Given the description of an element on the screen output the (x, y) to click on. 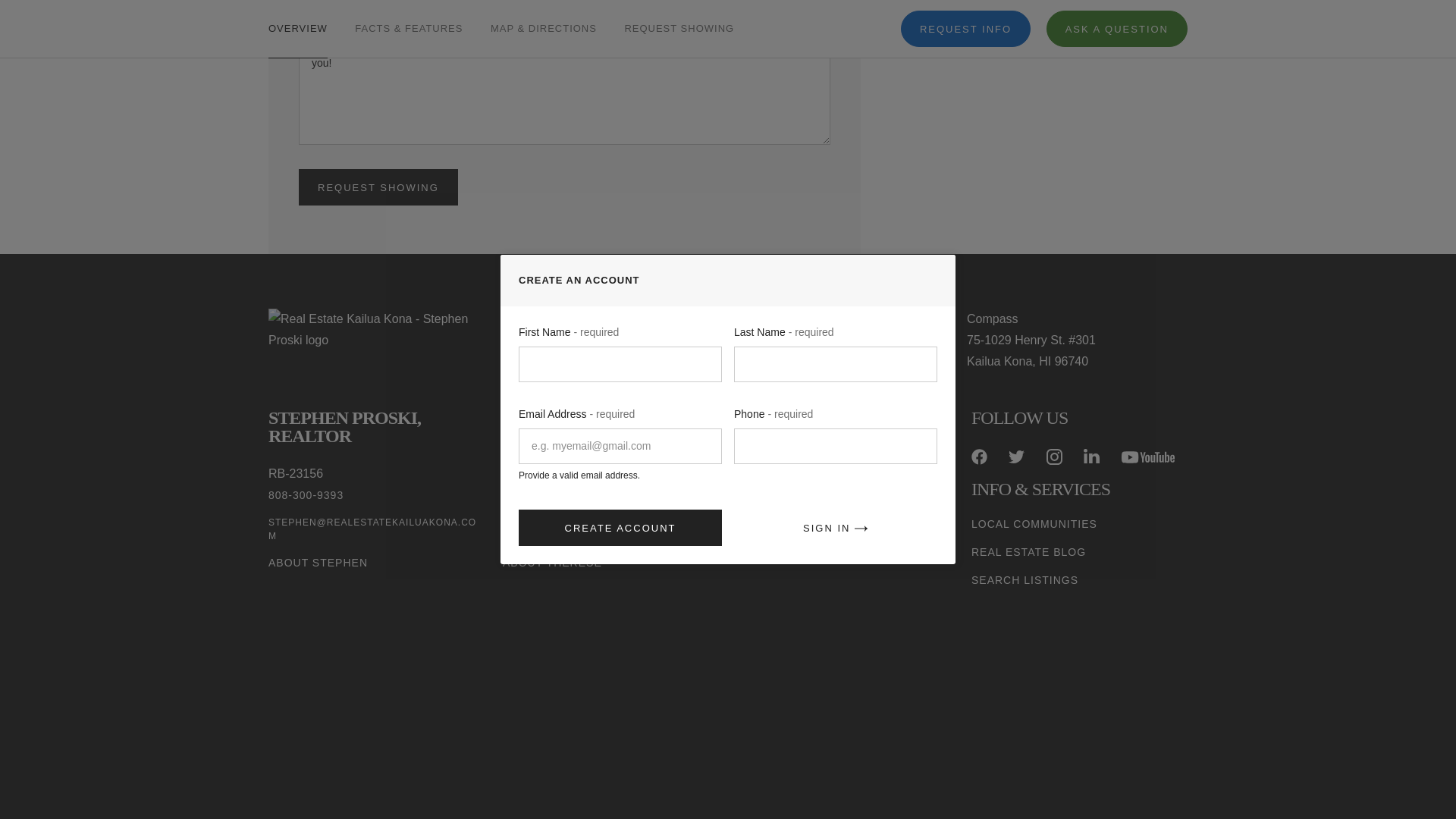
TWITTER (1017, 456)
YOUTUBE (1147, 456)
LINKEDIN (1091, 456)
FACEBOOK (979, 456)
